Given the description of an element on the screen output the (x, y) to click on. 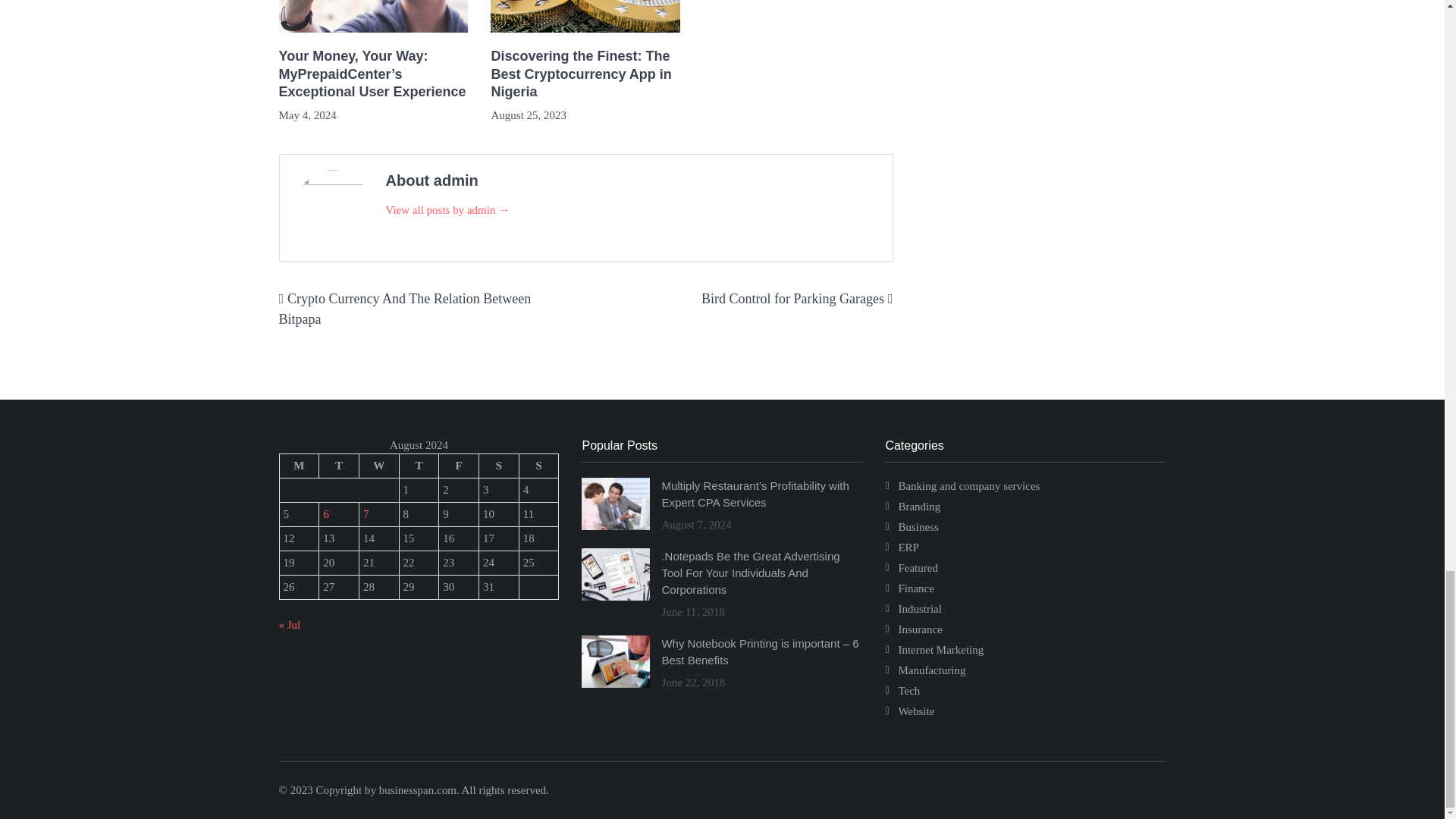
Saturday (499, 466)
Tuesday (338, 466)
Crypto Currency And The Relation Between Bitpapa (405, 308)
Sunday (538, 466)
Thursday (418, 466)
Monday (298, 466)
Friday (459, 466)
Wednesday (378, 466)
Bird Control for Parking Garages (792, 298)
